Given the description of an element on the screen output the (x, y) to click on. 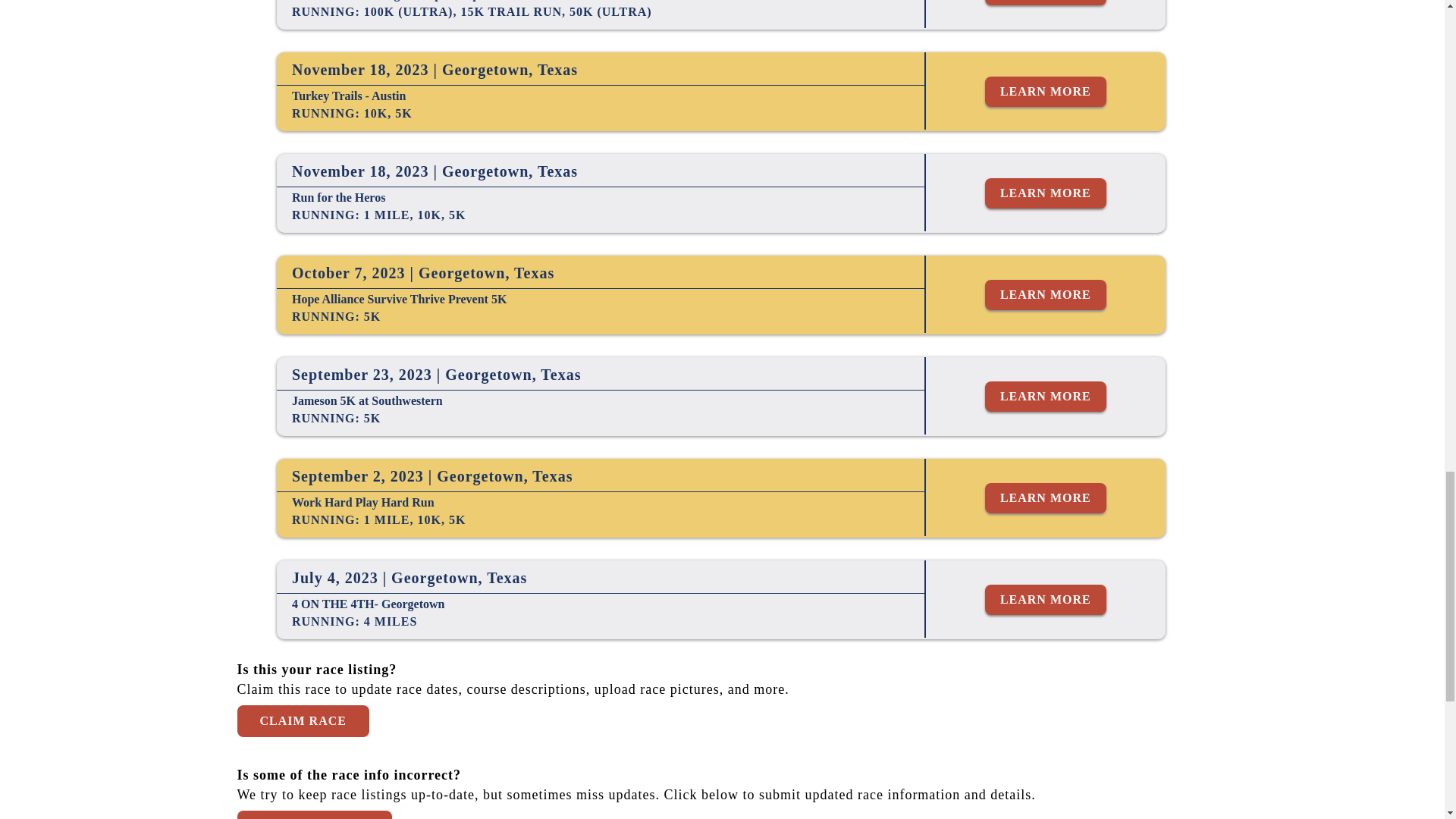
LEARN MORE (1045, 193)
LEARN MORE (1045, 91)
LEARN MORE (1045, 396)
SUBMIT UPDATE (313, 814)
LEARN MORE (1045, 498)
LEARN MORE (1045, 2)
CLAIM RACE (301, 721)
LEARN MORE (1045, 295)
LEARN MORE (1045, 599)
